Given the description of an element on the screen output the (x, y) to click on. 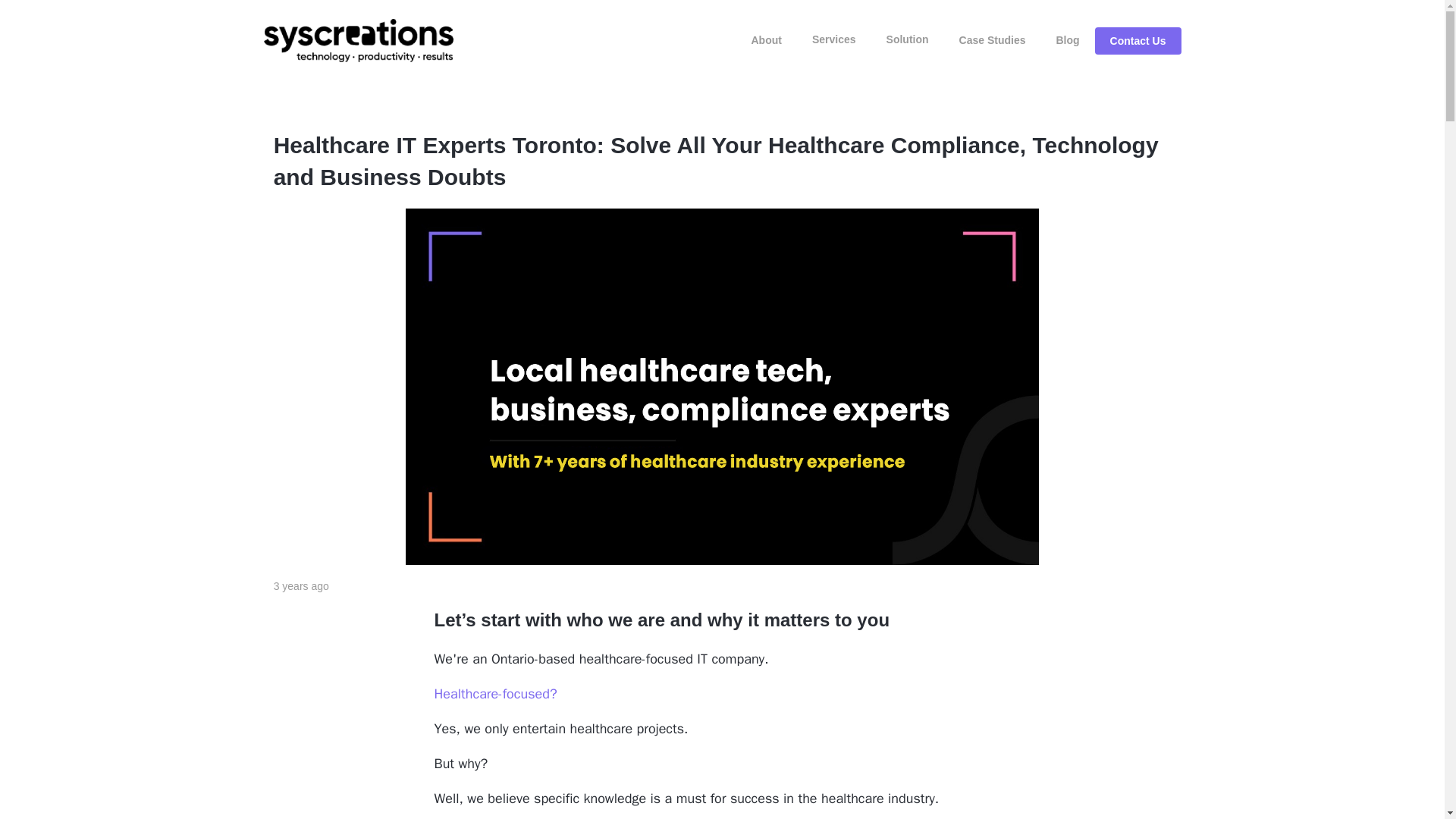
About (765, 40)
Services (833, 39)
